Given the description of an element on the screen output the (x, y) to click on. 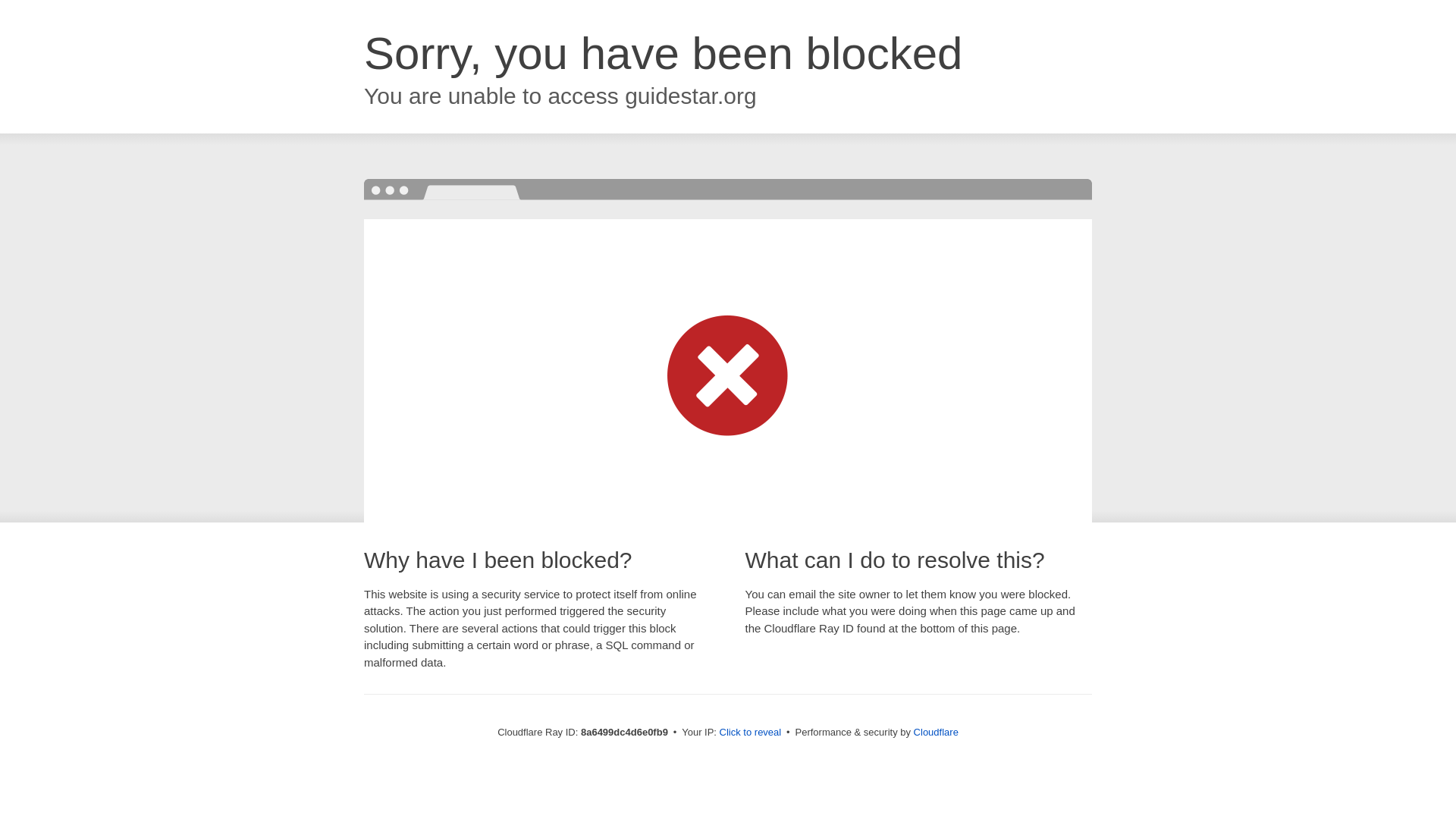
Cloudflare (936, 731)
Click to reveal (750, 732)
